Given the description of an element on the screen output the (x, y) to click on. 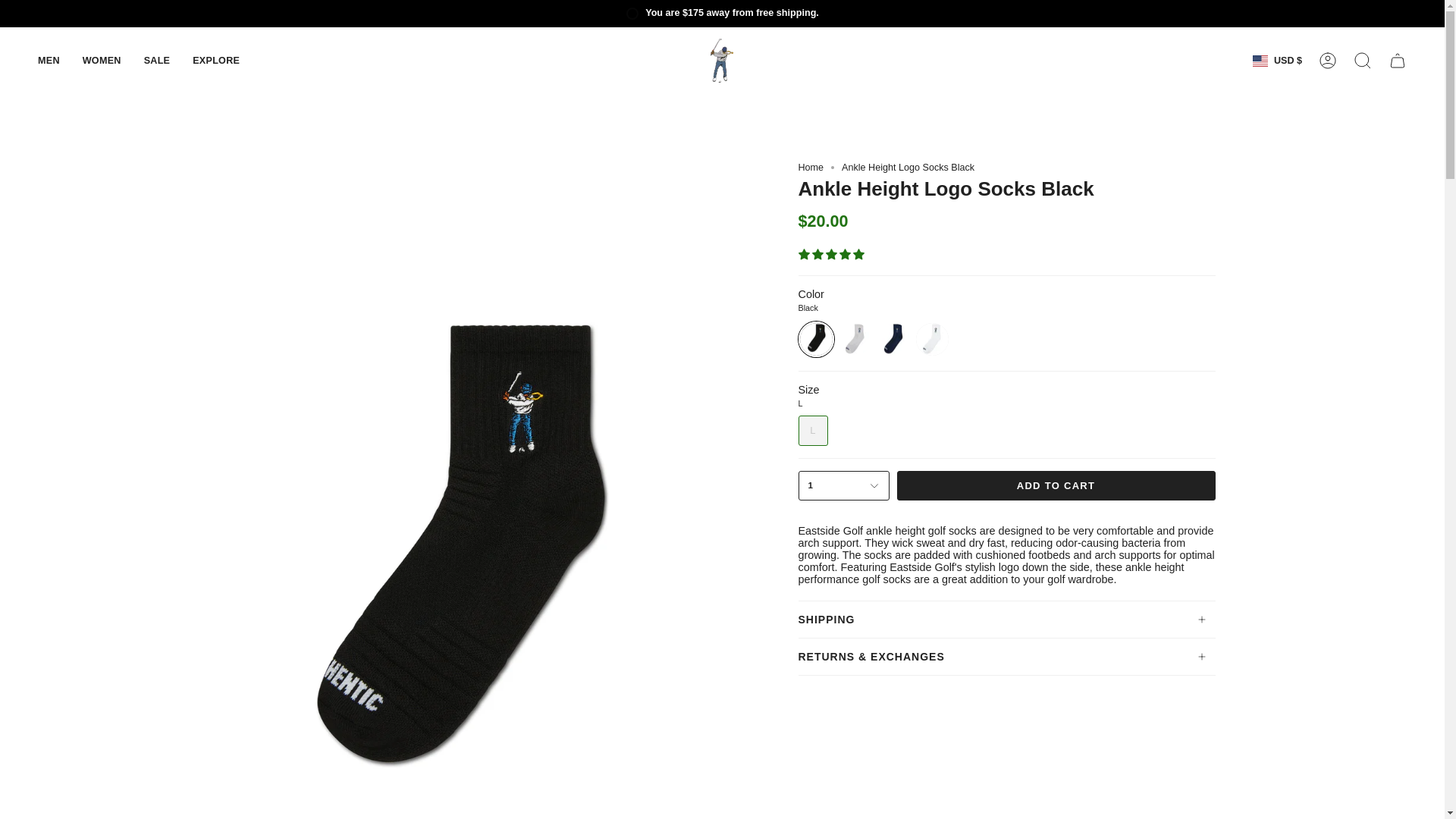
My Account (1327, 60)
Cart (1397, 60)
Search (1362, 60)
